Given the description of an element on the screen output the (x, y) to click on. 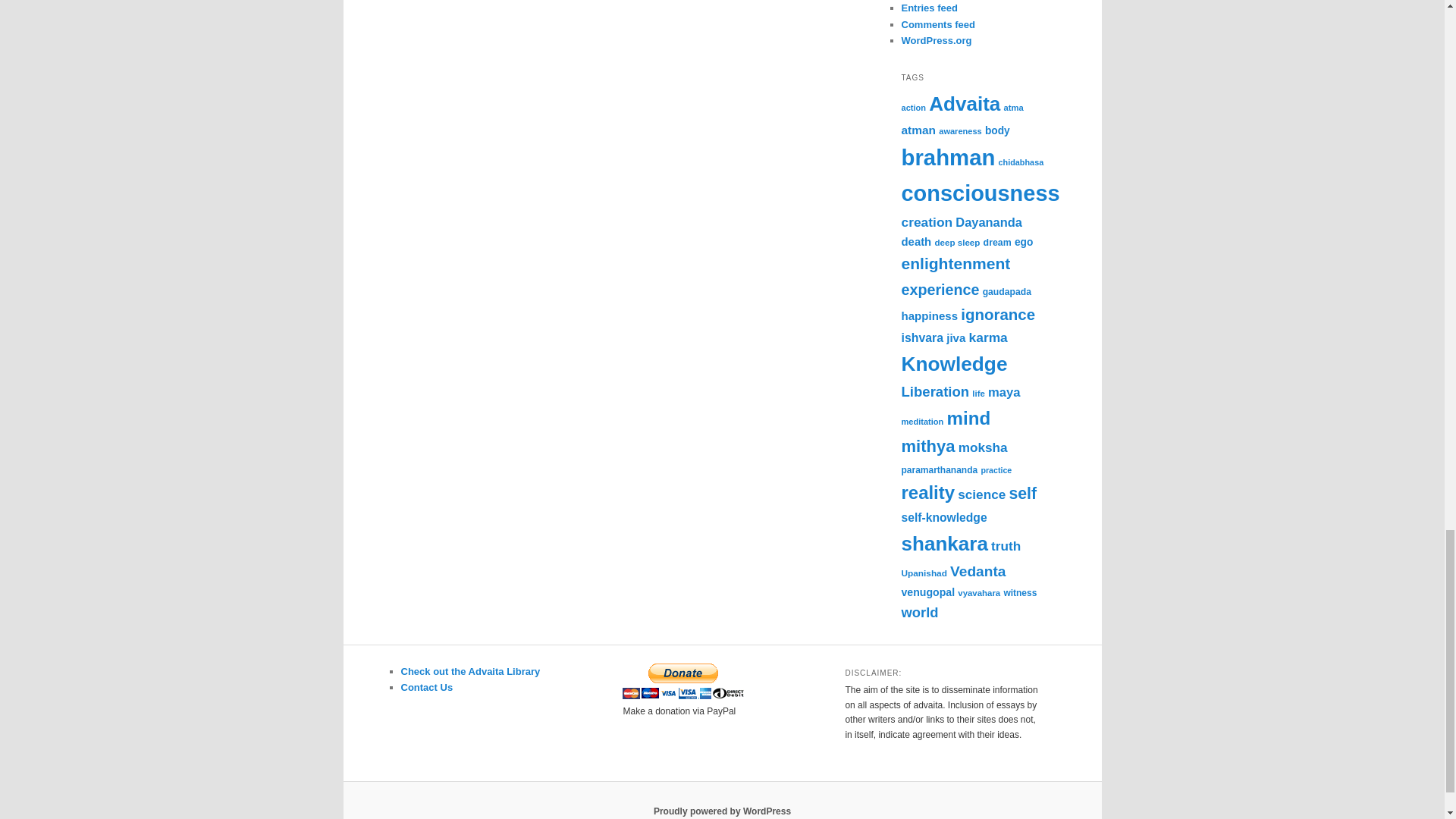
Semantic Personal Publishing Platform (721, 810)
Provide suggestions, report problems etc (426, 686)
